Given the description of an element on the screen output the (x, y) to click on. 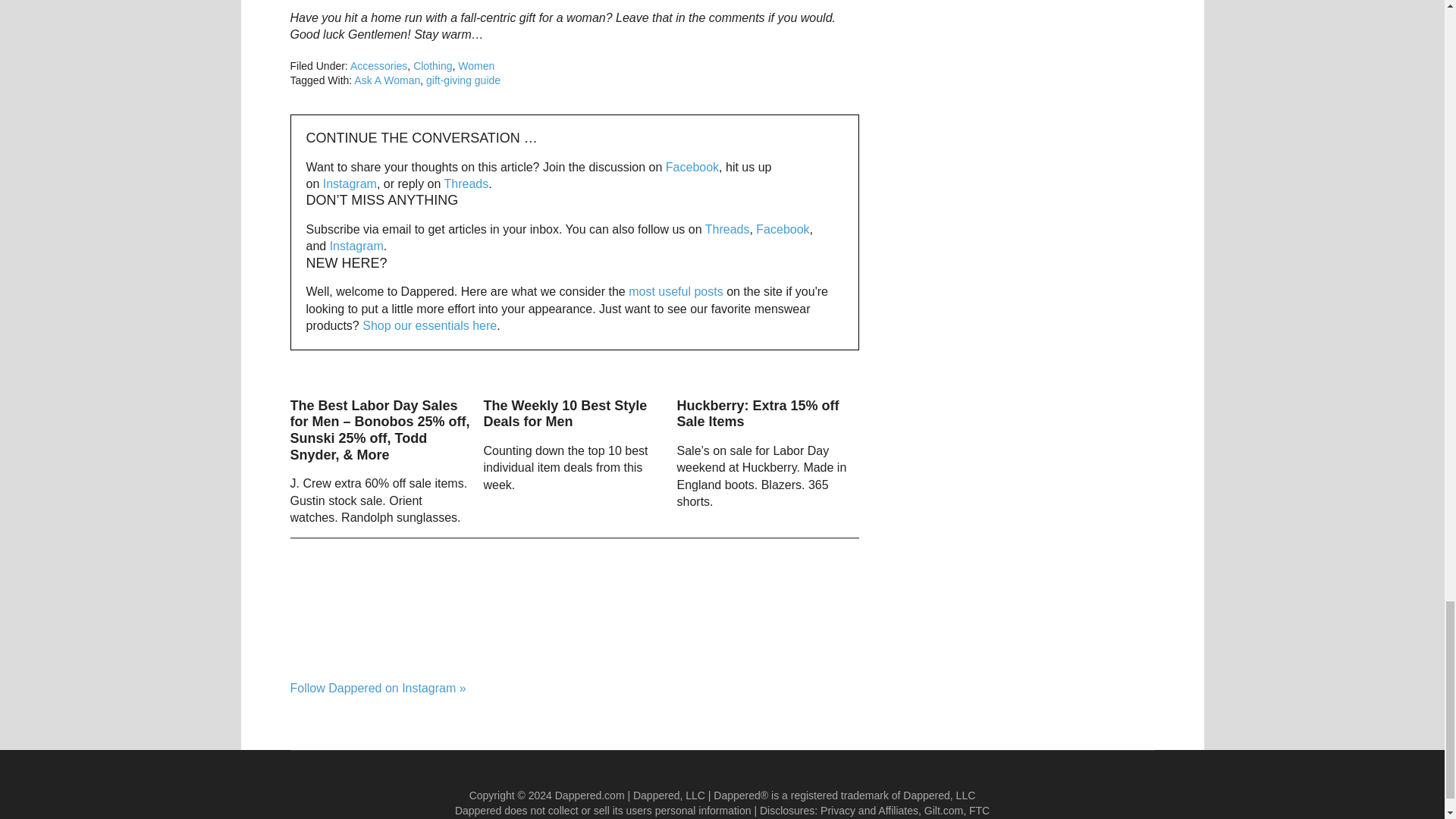
Dappered FTC Disclosures (979, 810)
Ask A Woman (386, 80)
Clothing (432, 65)
gift-giving guide (463, 80)
Women (476, 65)
Gilt Disclosure (943, 810)
Privacy and Affiliate Disclosure (869, 810)
Accessories (378, 65)
